Given the description of an element on the screen output the (x, y) to click on. 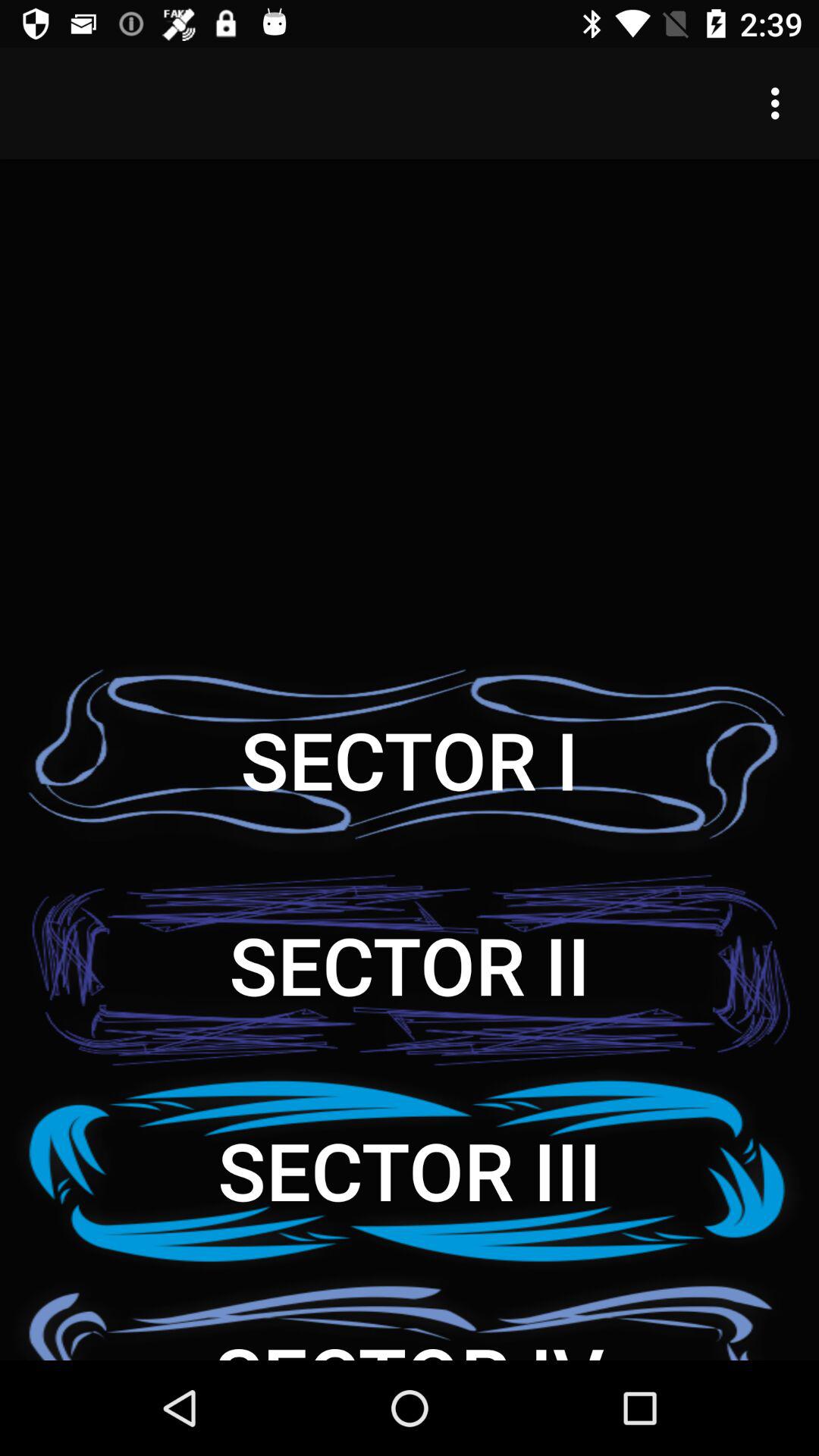
click icon above the sector iii item (409, 964)
